Given the description of an element on the screen output the (x, y) to click on. 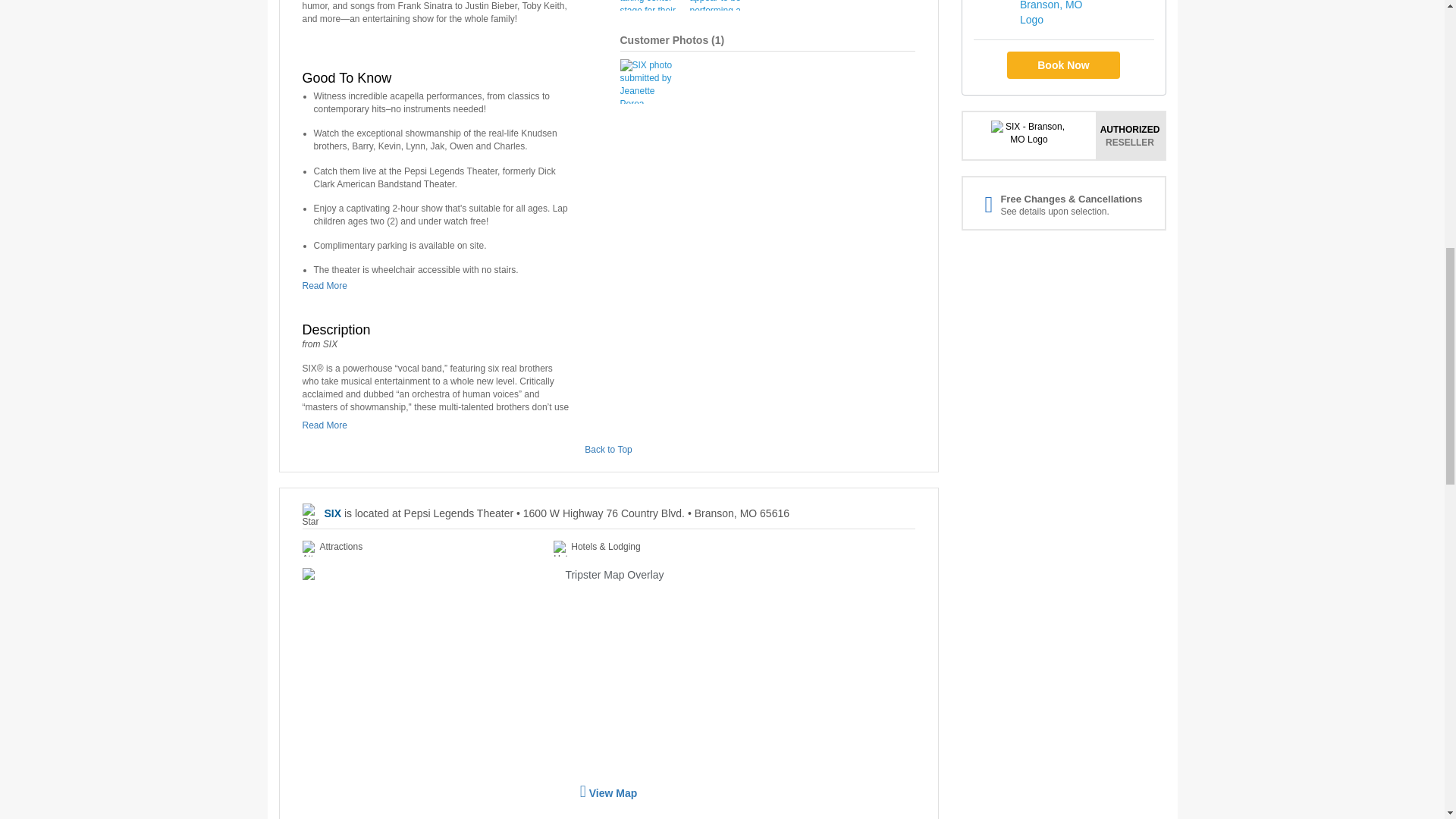
Read More (328, 285)
Book Now (1063, 64)
1 (717, 39)
Read More (328, 425)
